Given the description of an element on the screen output the (x, y) to click on. 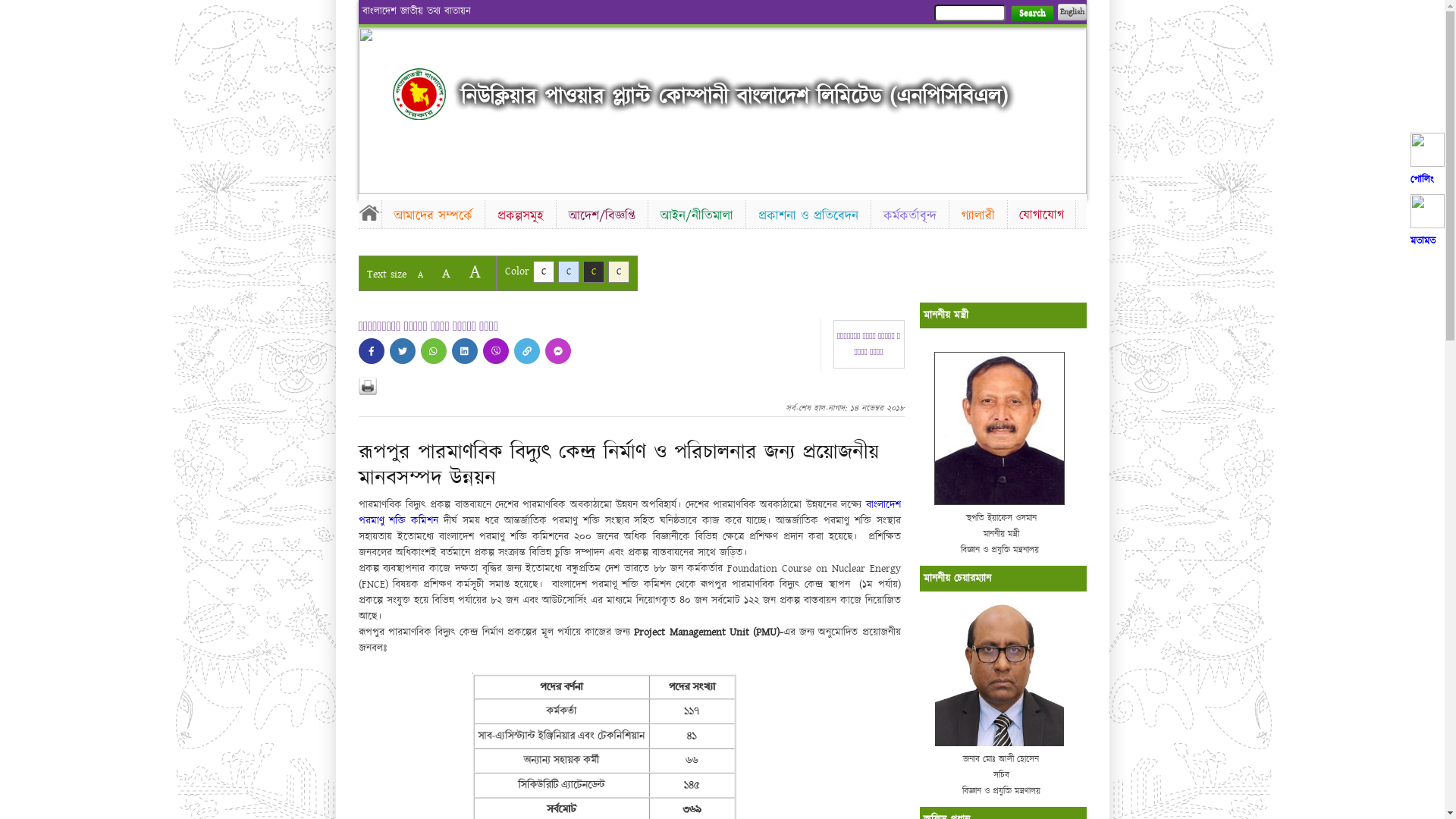
Home Element type: hover (368, 211)
C Element type: text (542, 271)
English Element type: text (1071, 11)
Home Element type: hover (418, 93)
A Element type: text (474, 271)
C Element type: text (618, 271)
Search Element type: text (1031, 13)
C Element type: text (568, 271)
C Element type: text (592, 271)
A Element type: text (445, 273)
A Element type: text (419, 274)
